Given the description of an element on the screen output the (x, y) to click on. 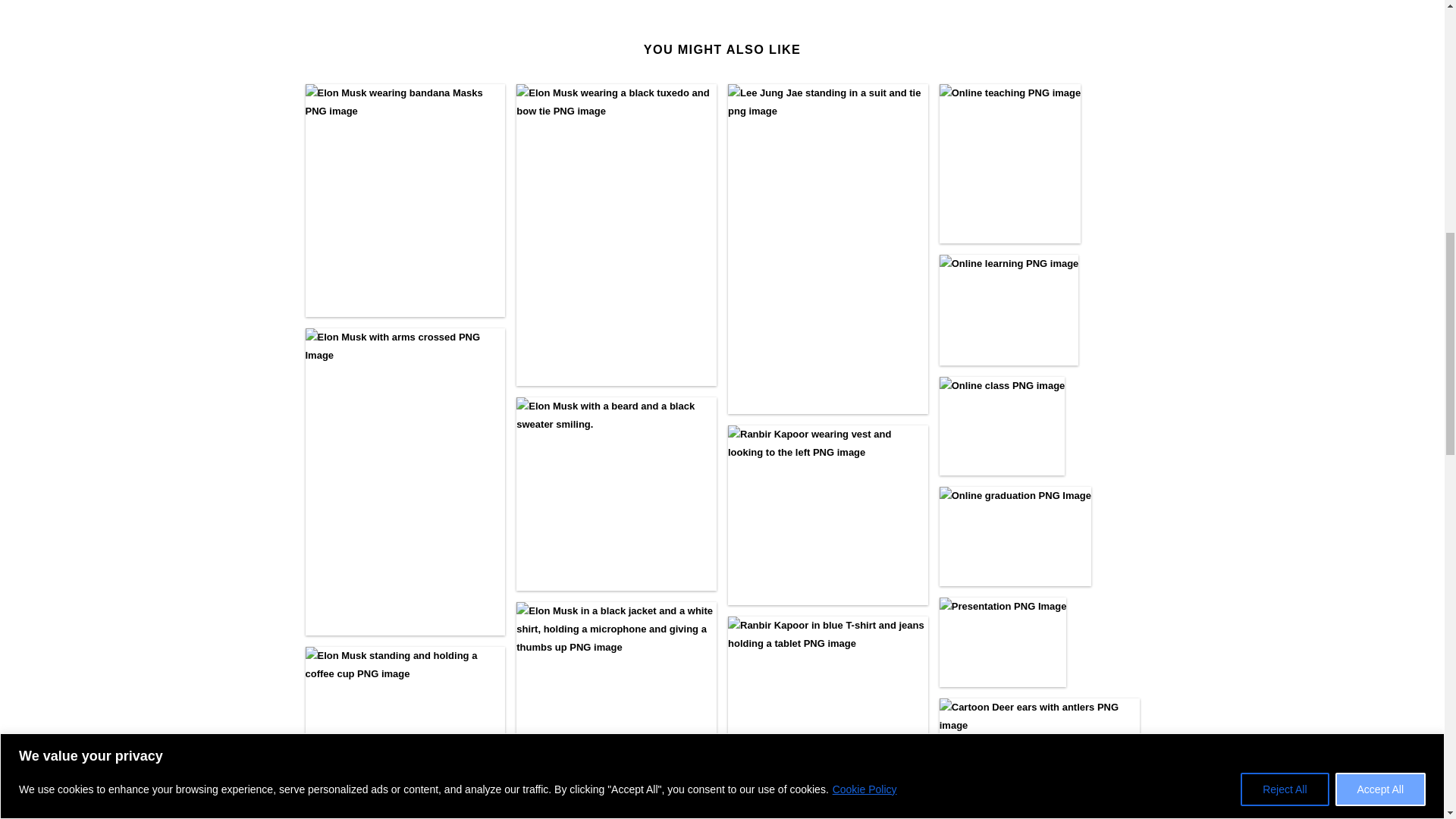
Ranbir Kapoor wearing vest PNG image (828, 515)
Elon Musk Smiling PNG image (616, 493)
Ranbir Kapoor in blue T-shirt PNG image (828, 717)
Elon Musk holding cup PNG image (404, 733)
Elon Musk giving thumbs up PNG image (616, 710)
